Given the description of an element on the screen output the (x, y) to click on. 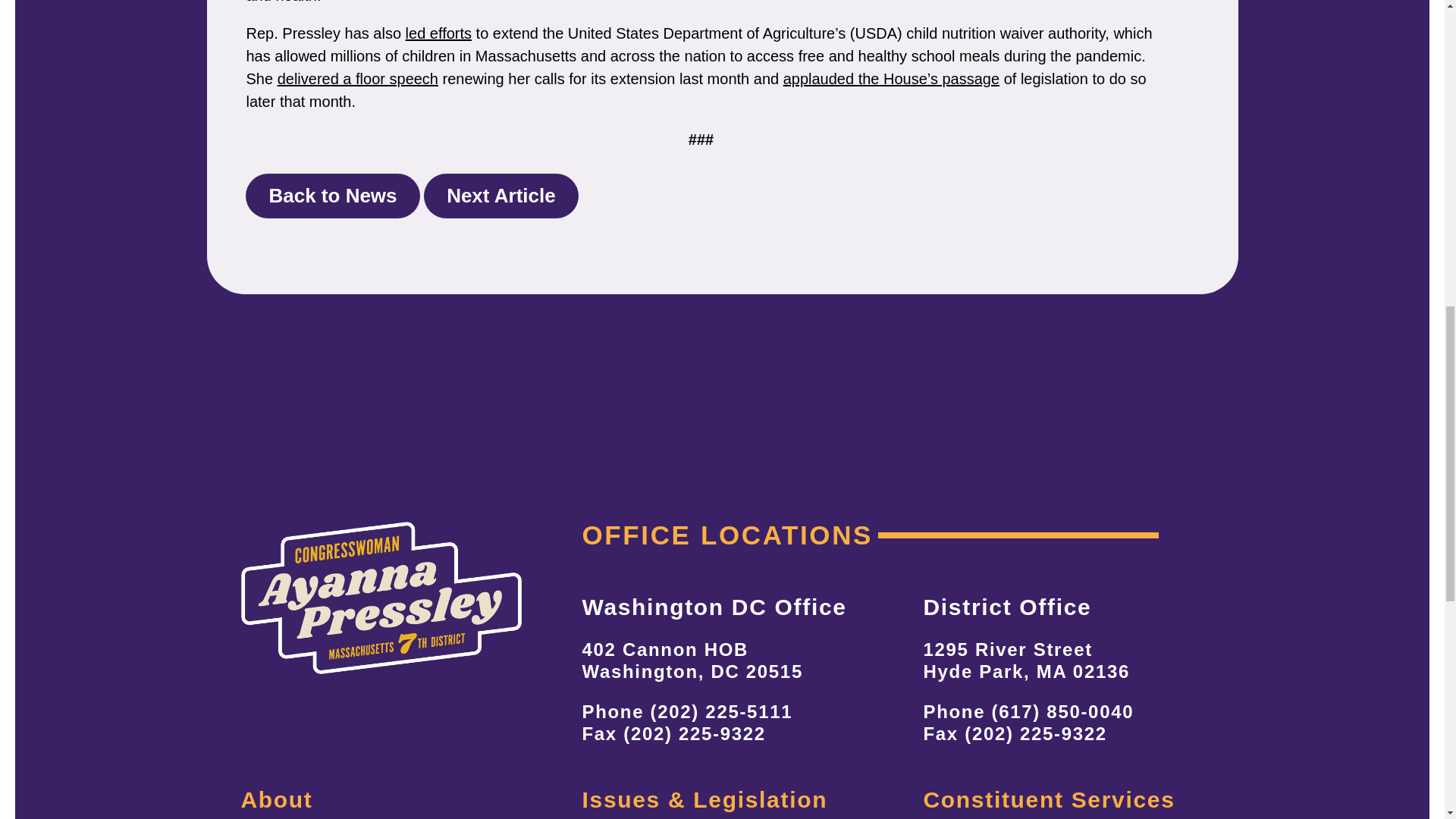
delivered a floor speech (358, 78)
led efforts (438, 33)
